Given the description of an element on the screen output the (x, y) to click on. 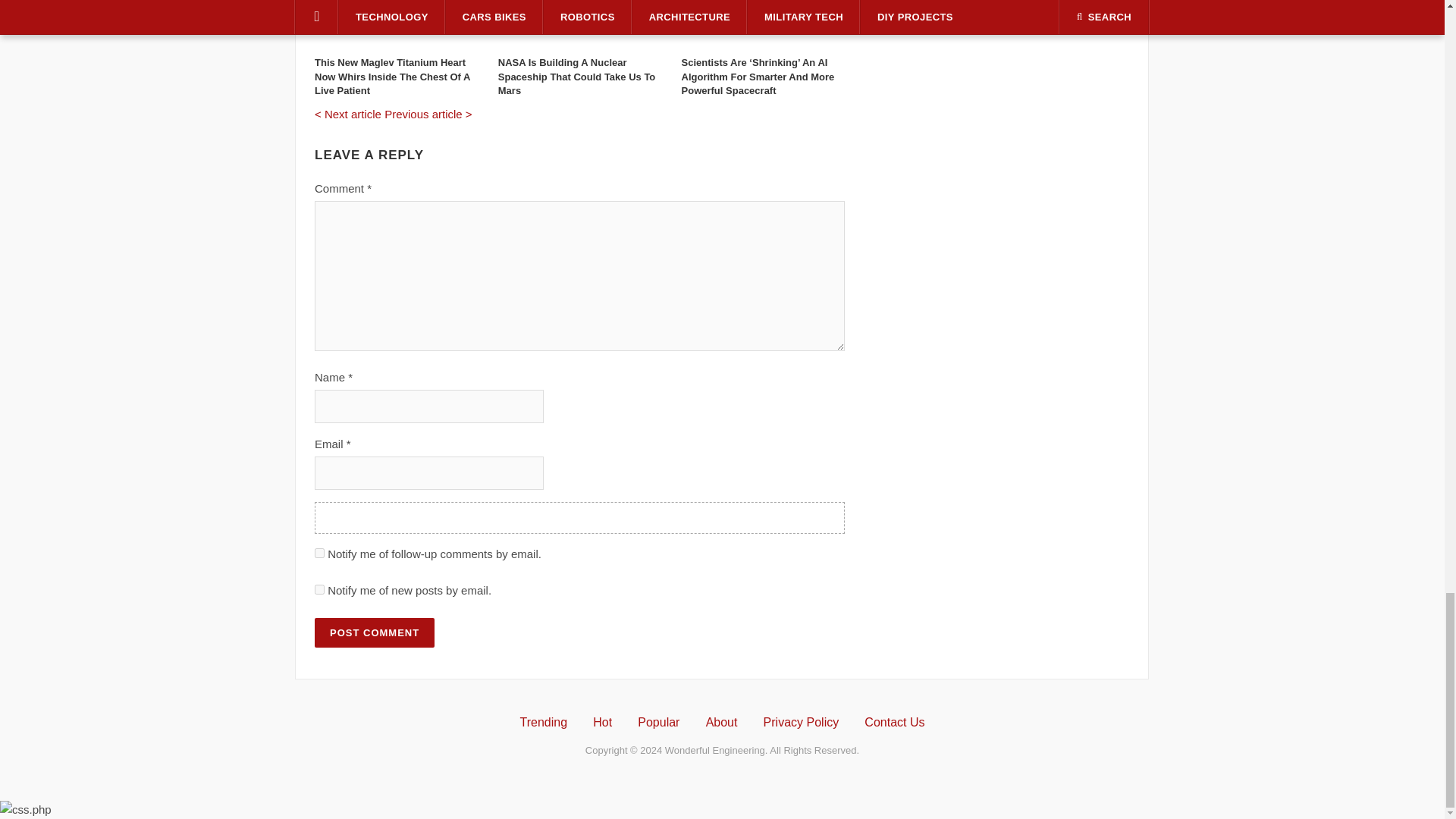
Post Comment (373, 632)
subscribe (319, 589)
subscribe (319, 552)
